Given the description of an element on the screen output the (x, y) to click on. 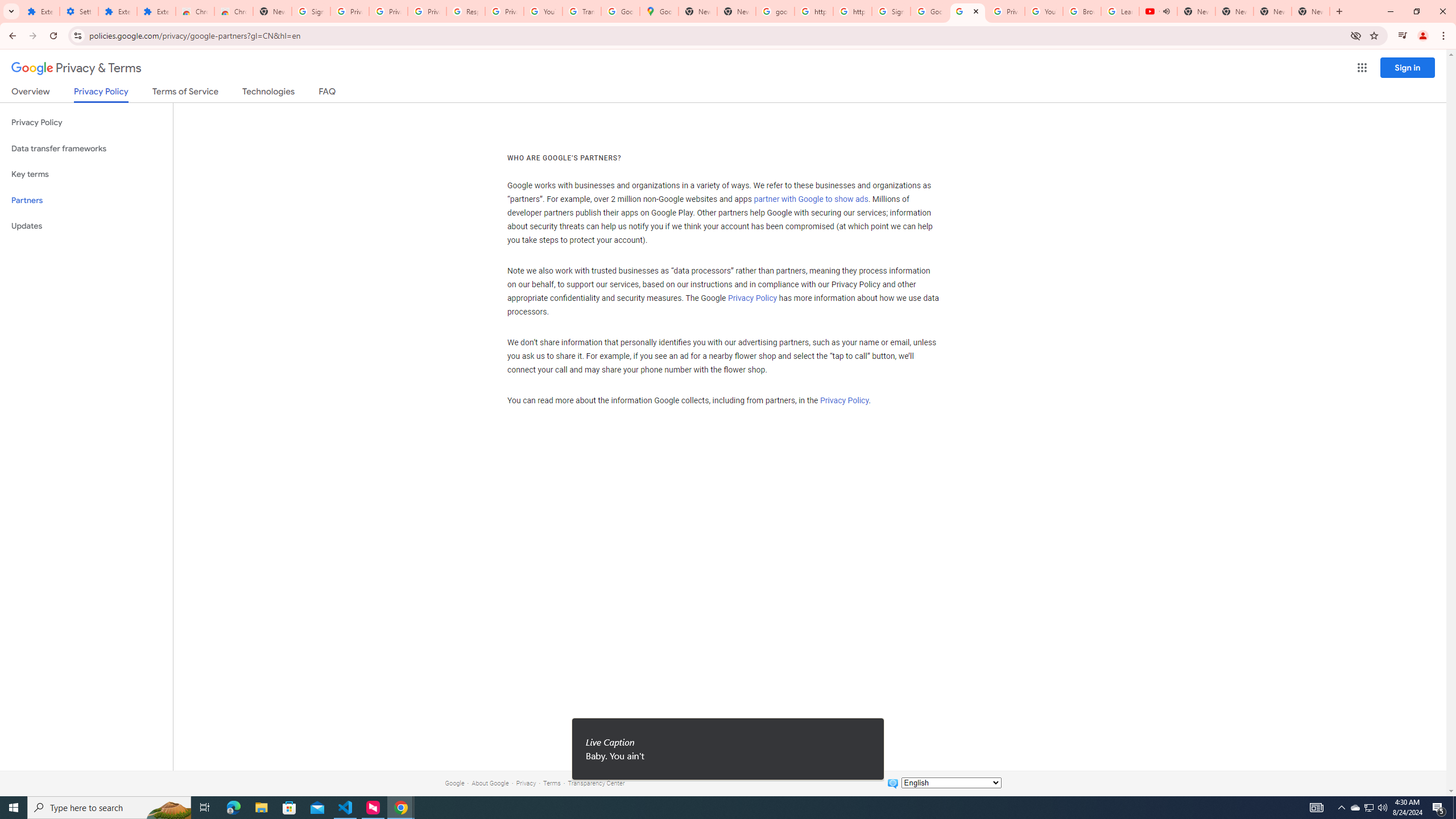
Extensions (117, 11)
About Google (490, 783)
Chrome Web Store - Themes (233, 11)
